Given the description of an element on the screen output the (x, y) to click on. 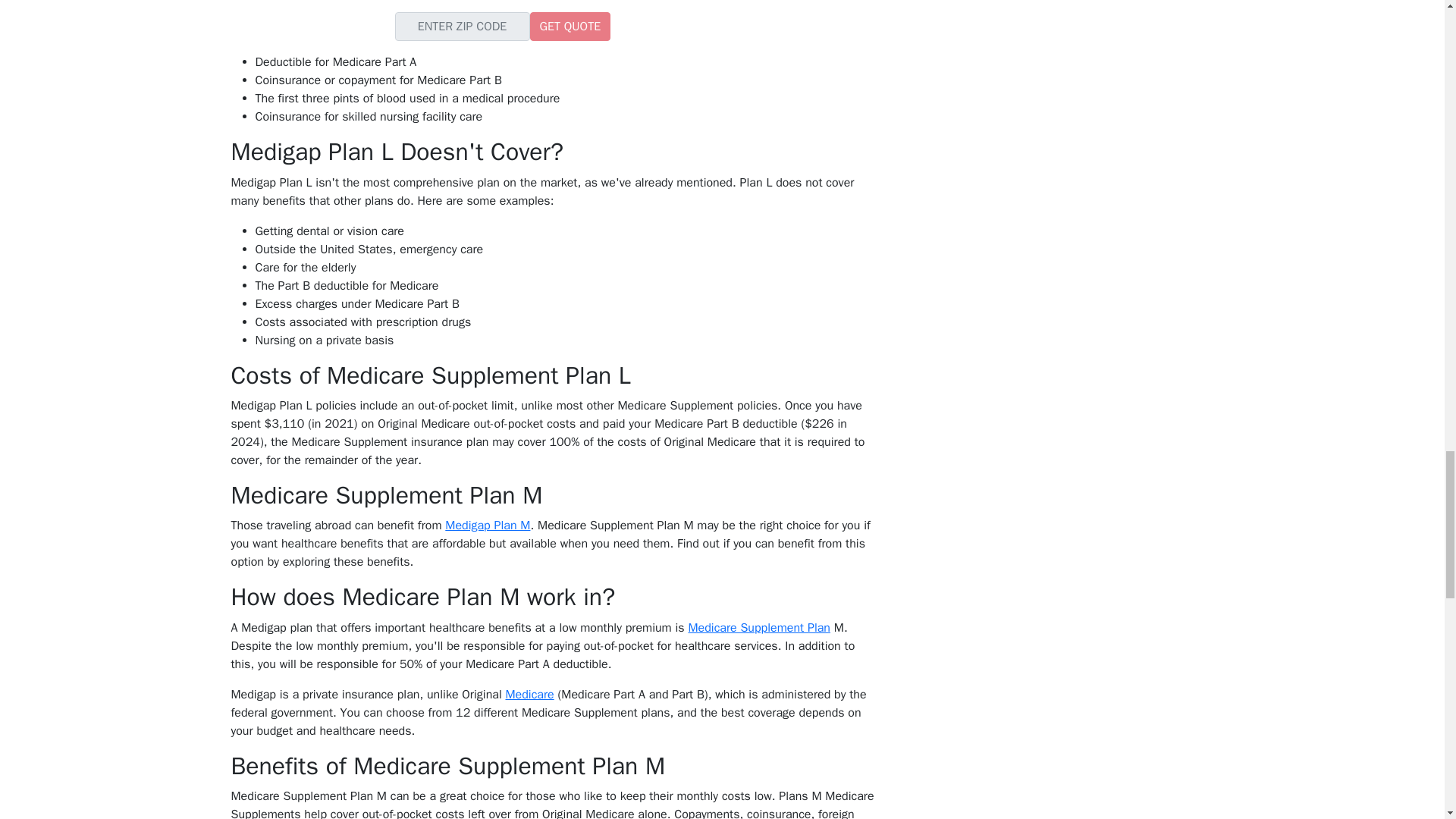
Medicare Supplement Plan (758, 627)
Medicare (529, 694)
Medigap Plan M (487, 525)
